Given the description of an element on the screen output the (x, y) to click on. 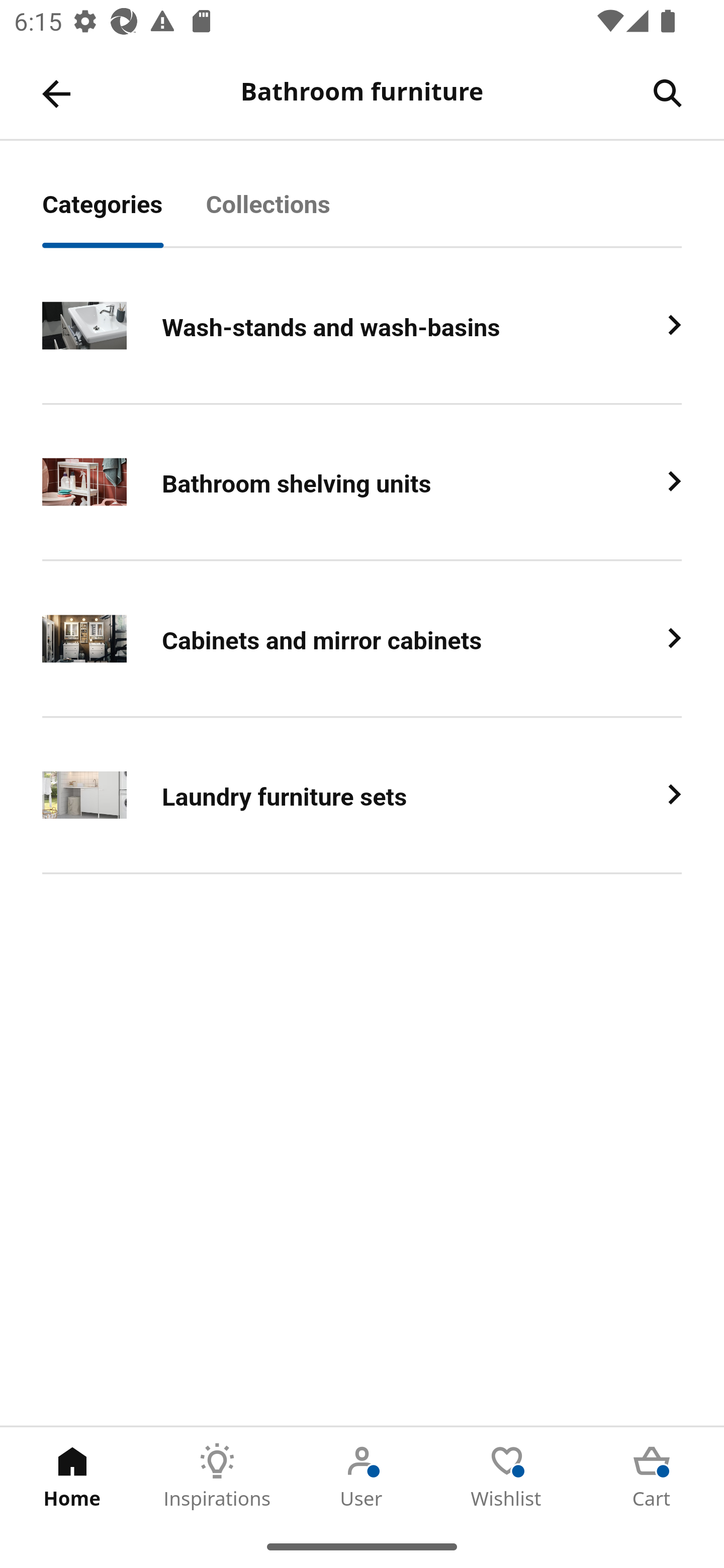
Categories
Tab 1 of 2 (123, 215)
Collections
Tab 2 of 2 (289, 215)
Wash-stands and wash-basins (361, 325)
Bathroom shelving units (361, 482)
Cabinets and mirror cabinets (361, 639)
Laundry furniture sets (361, 796)
Home
Tab 1 of 5 (72, 1476)
Inspirations
Tab 2 of 5 (216, 1476)
User
Tab 3 of 5 (361, 1476)
Wishlist
Tab 4 of 5 (506, 1476)
Cart
Tab 5 of 5 (651, 1476)
